Given the description of an element on the screen output the (x, y) to click on. 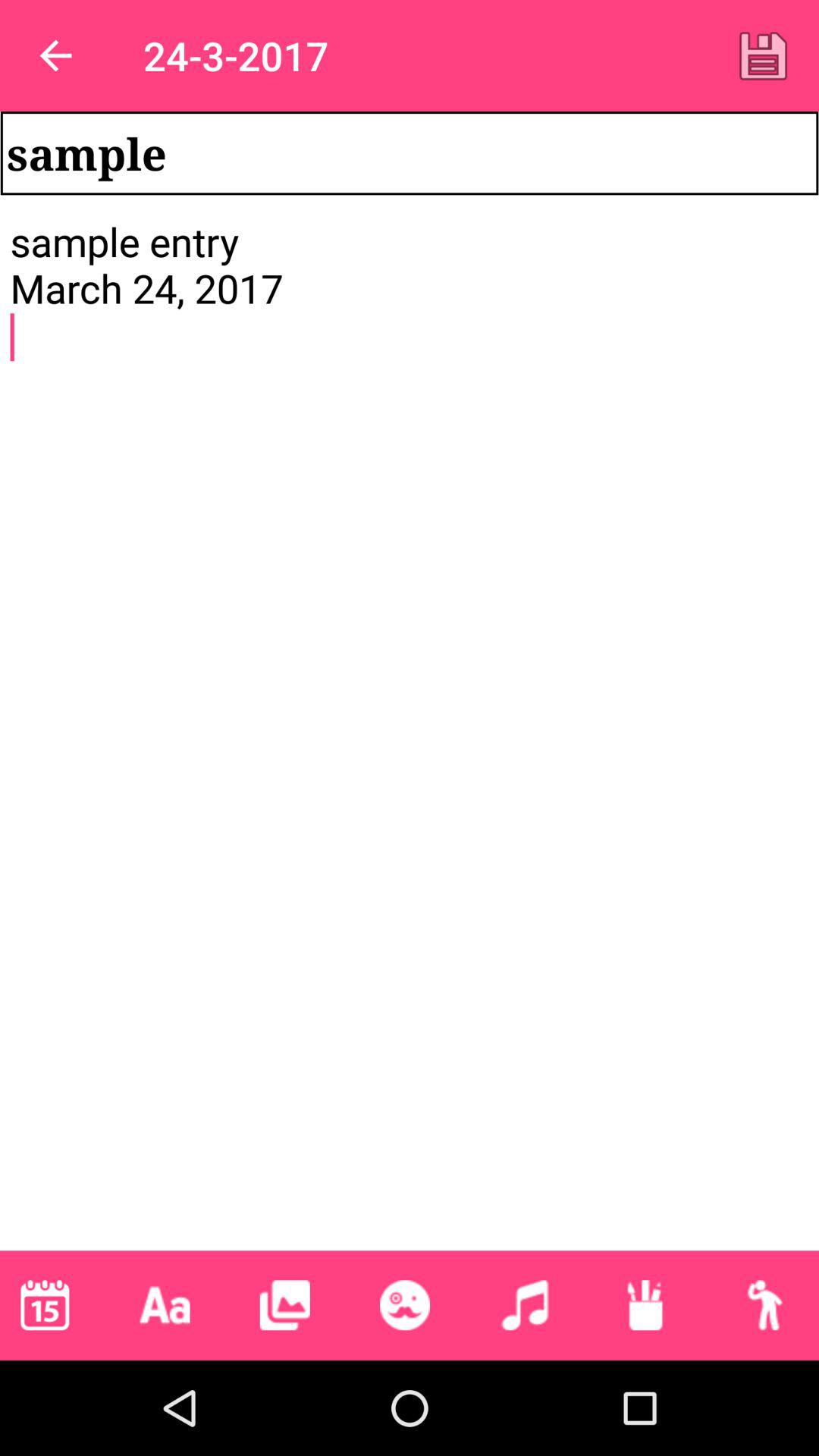
press the item below sample entry march item (404, 1305)
